Given the description of an element on the screen output the (x, y) to click on. 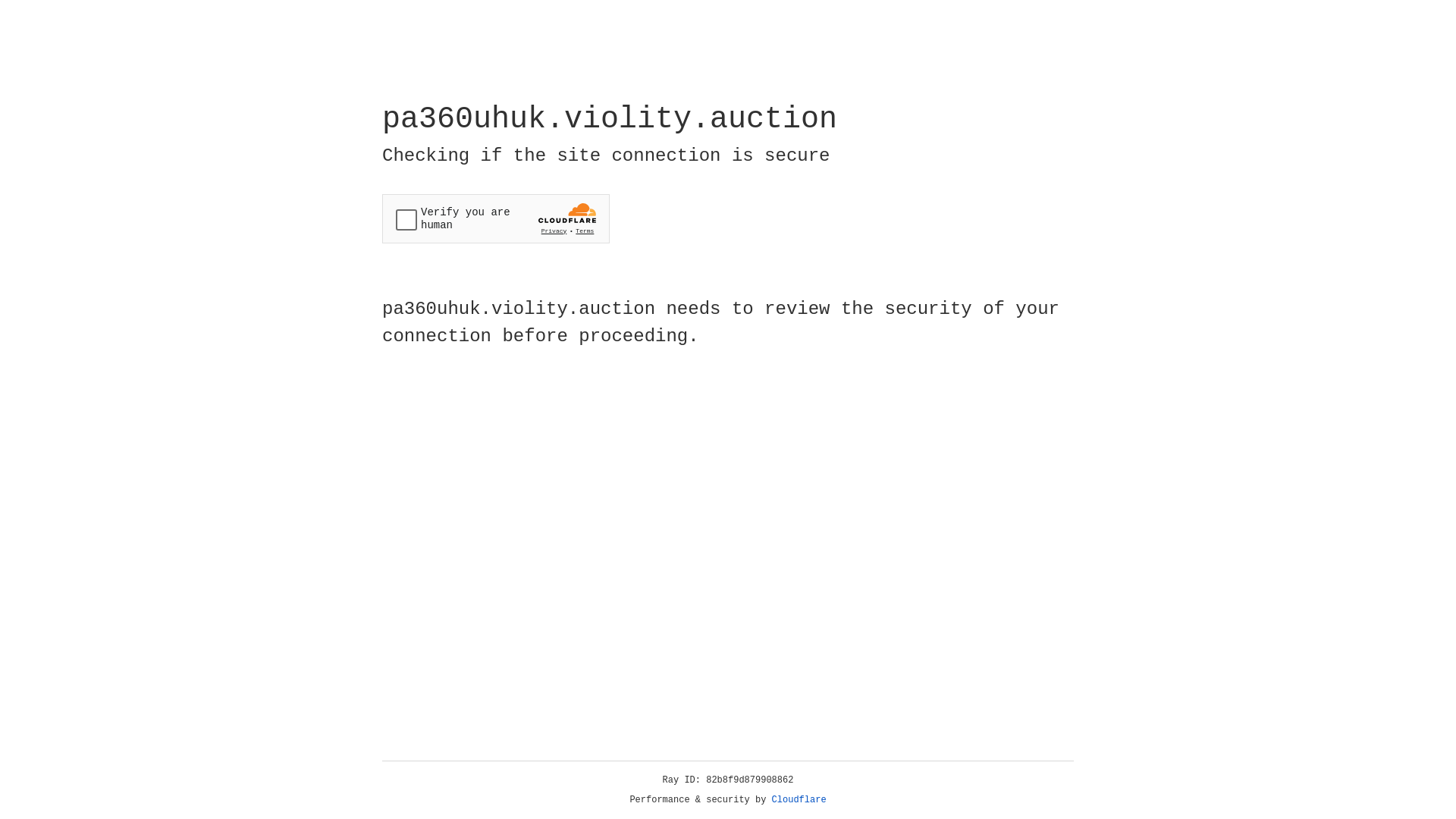
Cloudflare Element type: text (798, 799)
Widget containing a Cloudflare security challenge Element type: hover (495, 218)
